Given the description of an element on the screen output the (x, y) to click on. 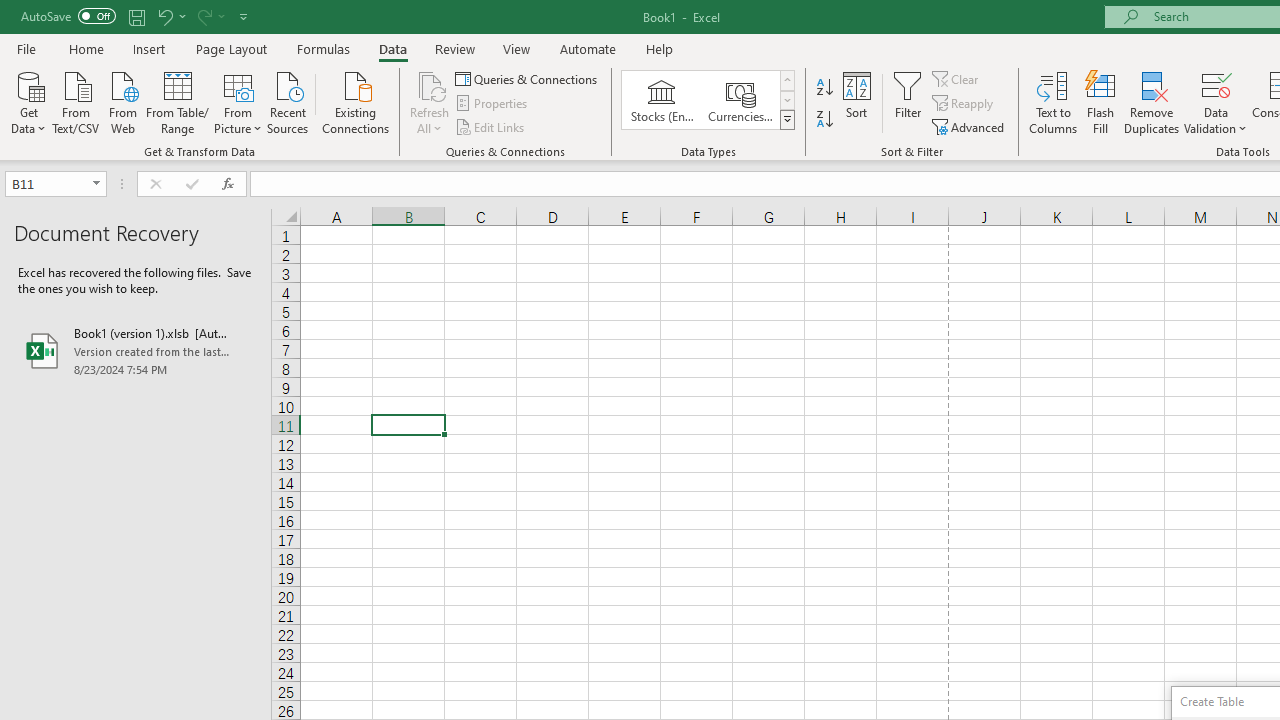
Filter (908, 102)
Get Data (28, 101)
Edit Links (491, 126)
Sort Z to A (824, 119)
